Given the description of an element on the screen output the (x, y) to click on. 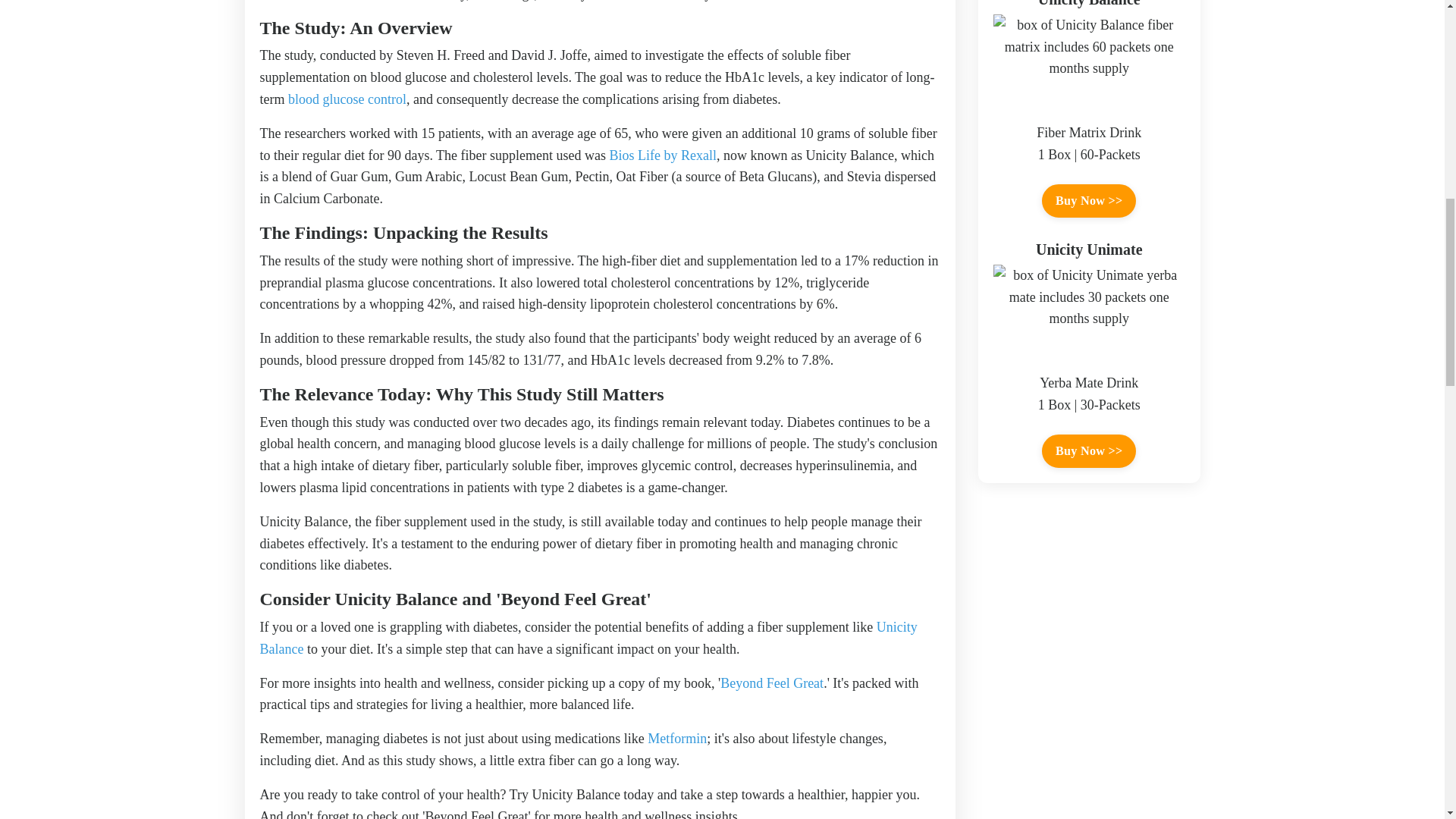
The Feel Great System Unicity Balance Fiber Matrix (588, 637)
blood glucose control (347, 99)
Image of the Unicity Balance fiber matrix box (1088, 61)
Metformin (676, 738)
Image of the Unicity Unimate yerba mate box (1088, 312)
Unicity Balance (588, 637)
